Given the description of an element on the screen output the (x, y) to click on. 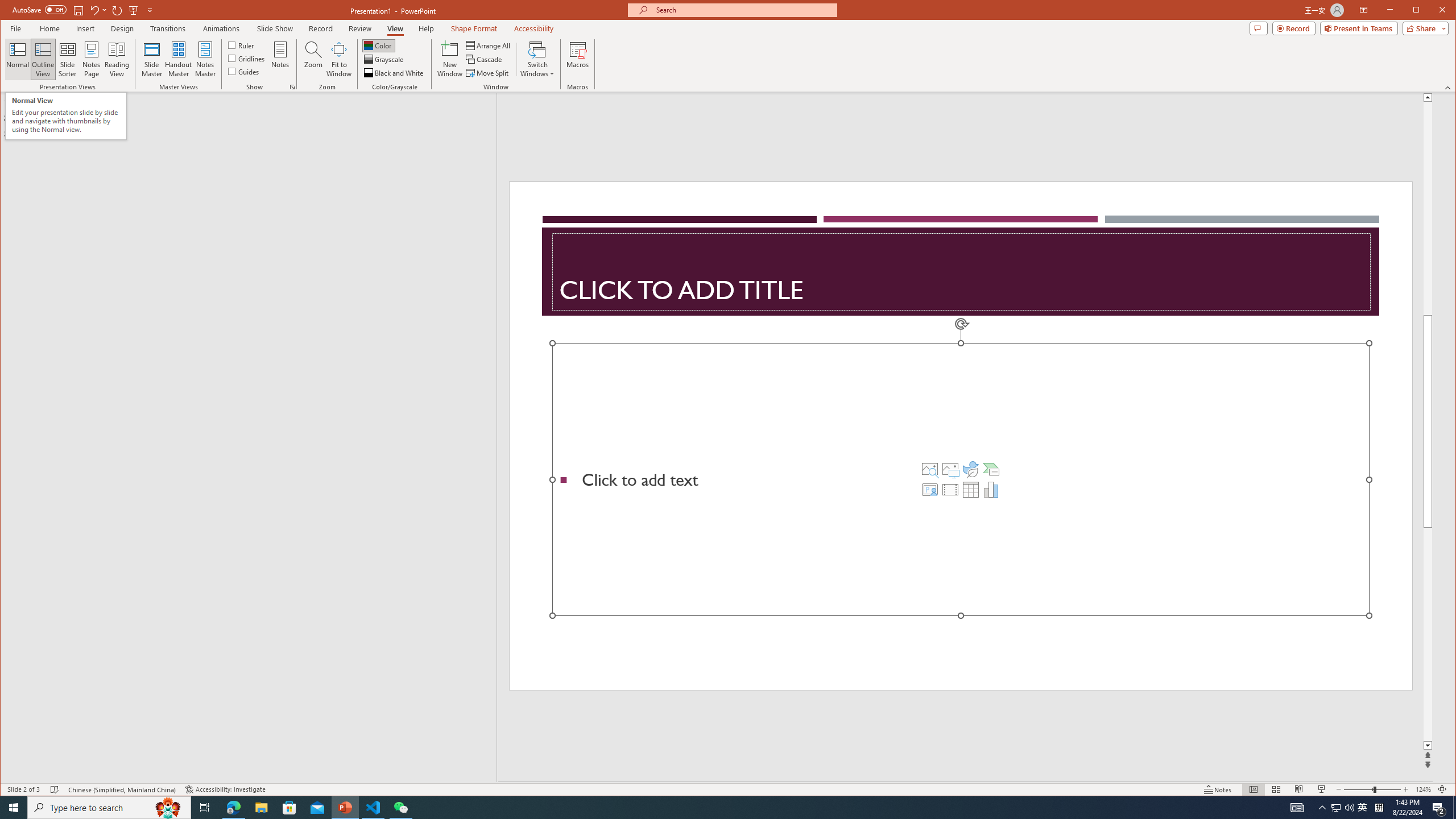
Slide Master (151, 59)
Color (378, 45)
